Given the description of an element on the screen output the (x, y) to click on. 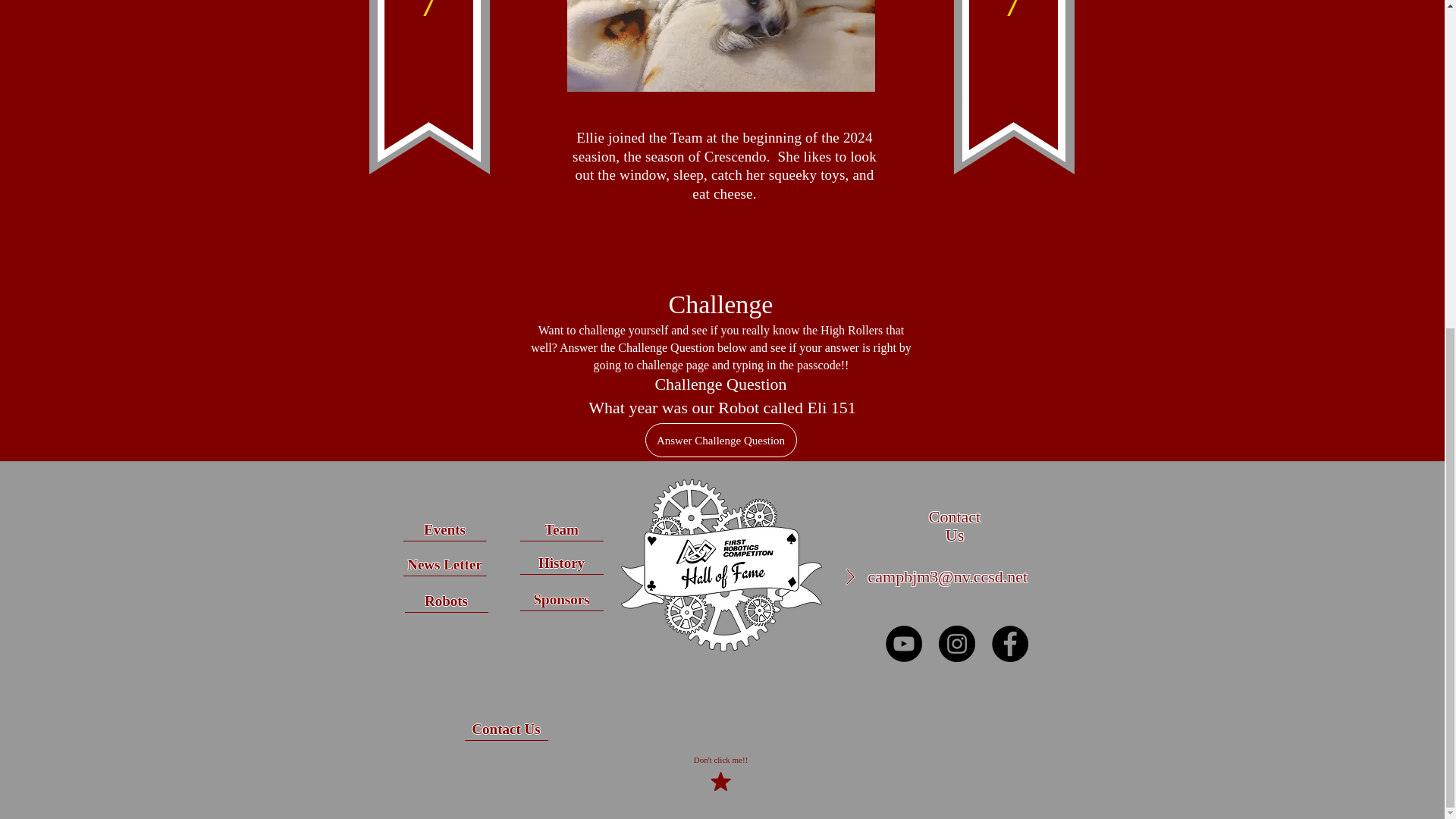
Robots (445, 600)
Contact Us (505, 729)
Answer Challenge Question (720, 440)
Sponsors (561, 599)
News Letter (444, 564)
Team (561, 529)
Events (444, 529)
History (561, 563)
